Given the description of an element on the screen output the (x, y) to click on. 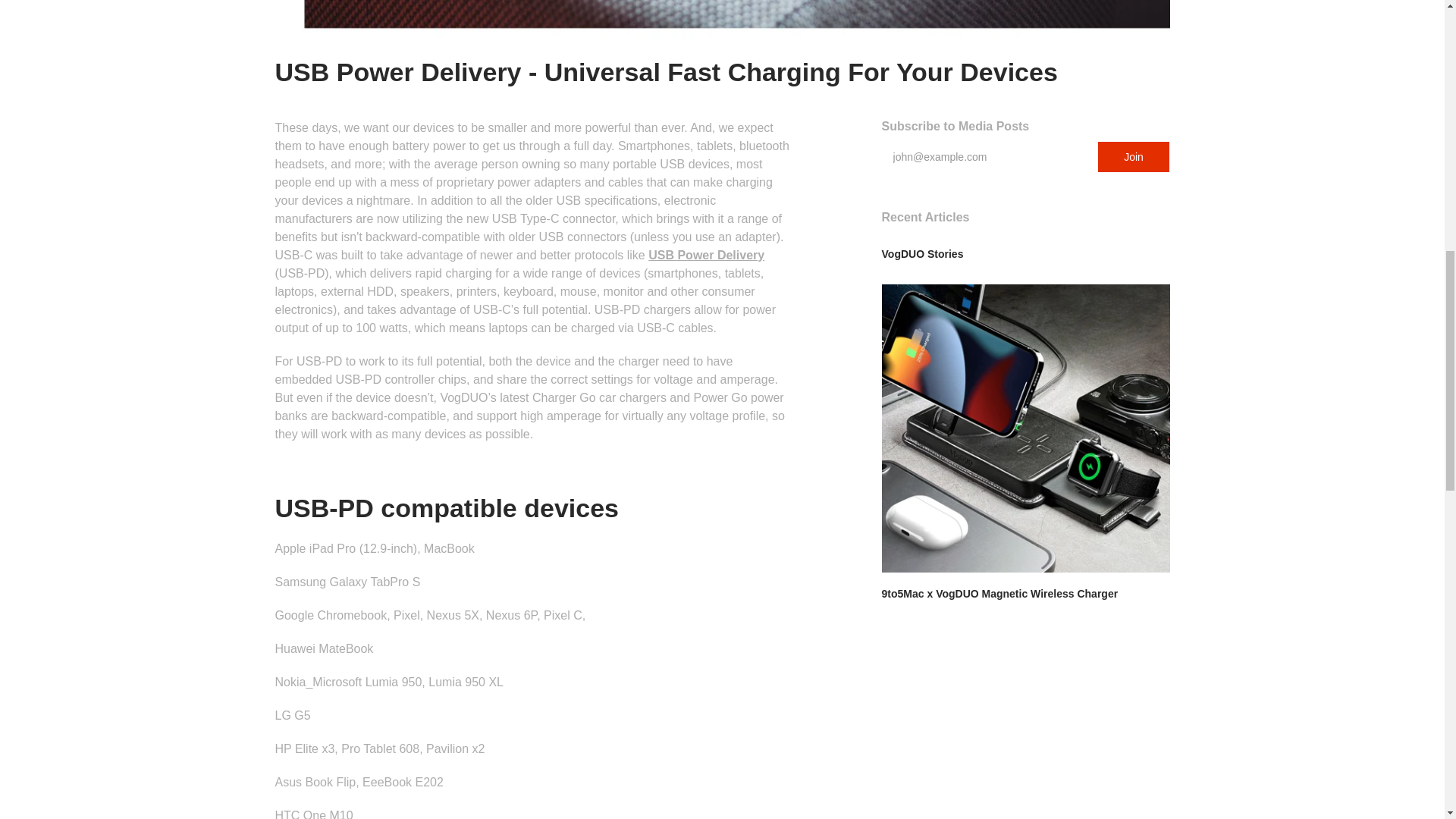
Join (1133, 156)
VogDUO Stories (922, 254)
9to5Mac x VogDUO Magnetic Wireless Charger (1000, 593)
USB Power Delivery (705, 254)
Join (1133, 156)
